Given the description of an element on the screen output the (x, y) to click on. 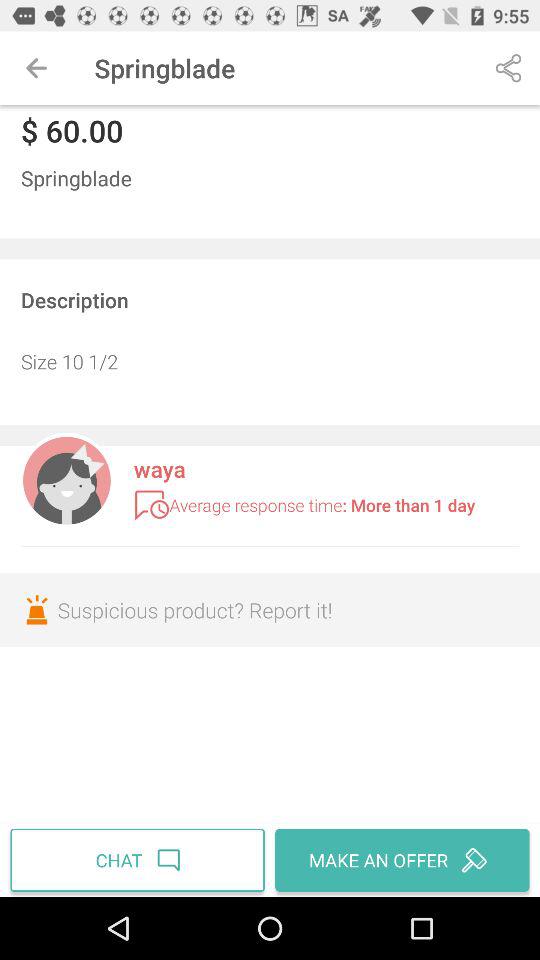
select item to the left of the springblade  icon (36, 68)
